Given the description of an element on the screen output the (x, y) to click on. 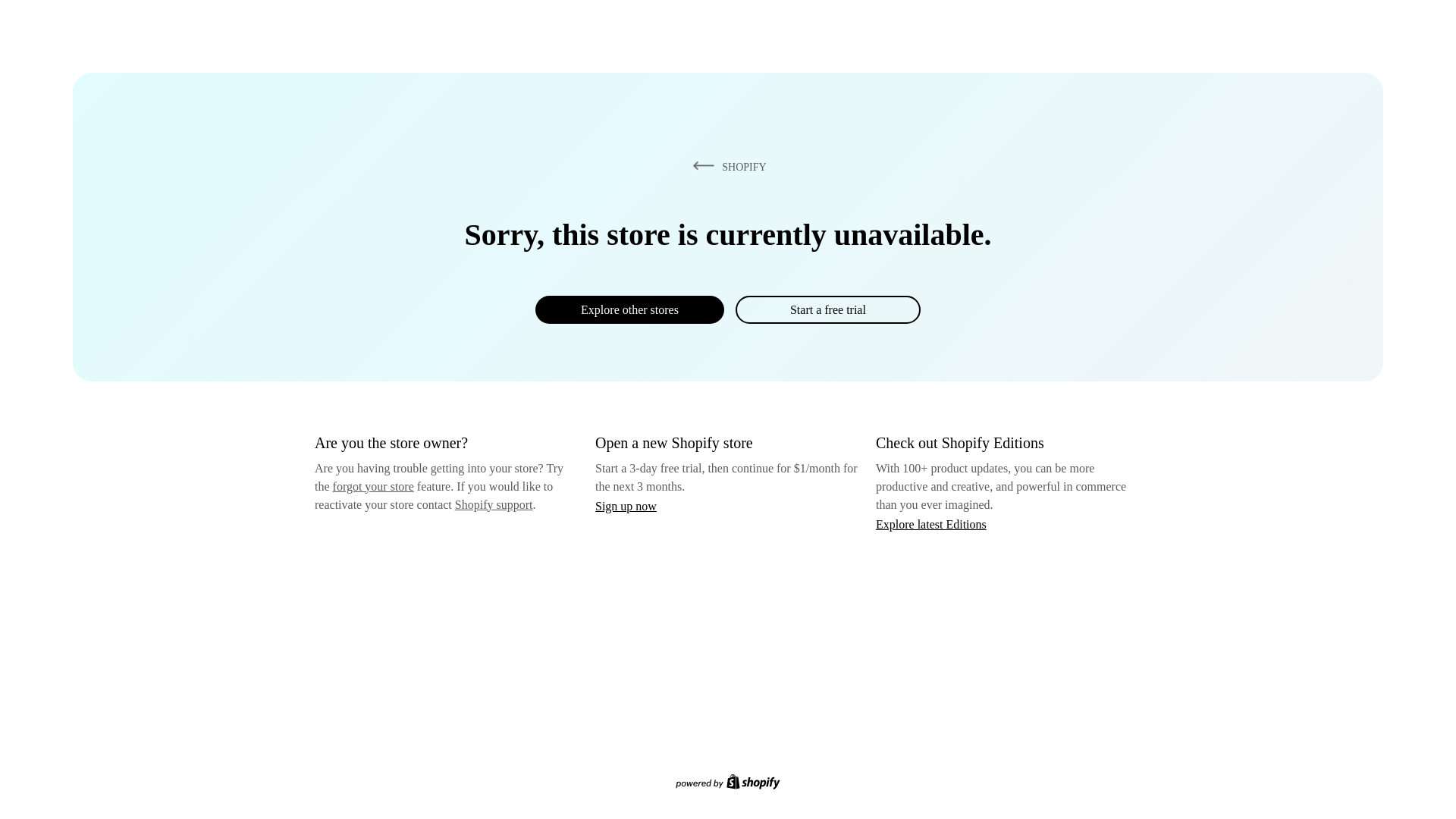
forgot your store (373, 486)
Explore latest Editions (931, 523)
Start a free trial (827, 309)
Explore other stores (629, 309)
Sign up now (625, 505)
SHOPIFY (726, 166)
Shopify support (493, 504)
